Given the description of an element on the screen output the (x, y) to click on. 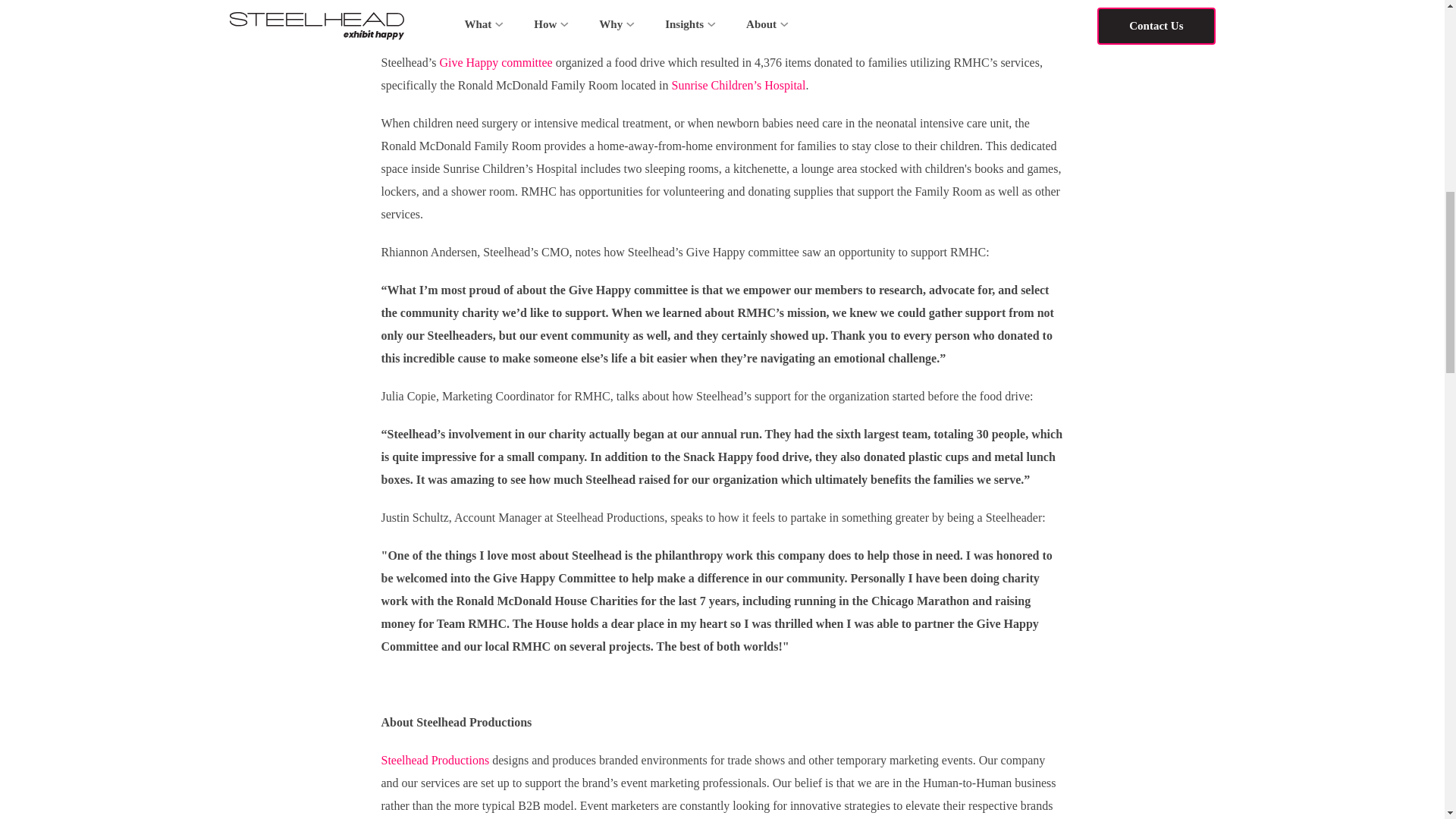
Ronald McDonald House Charities of Greater Las Vegas (818, 39)
Give Happy committee (495, 62)
Steelhead Productions (434, 759)
Steelhead Productions (661, 16)
